Given the description of an element on the screen output the (x, y) to click on. 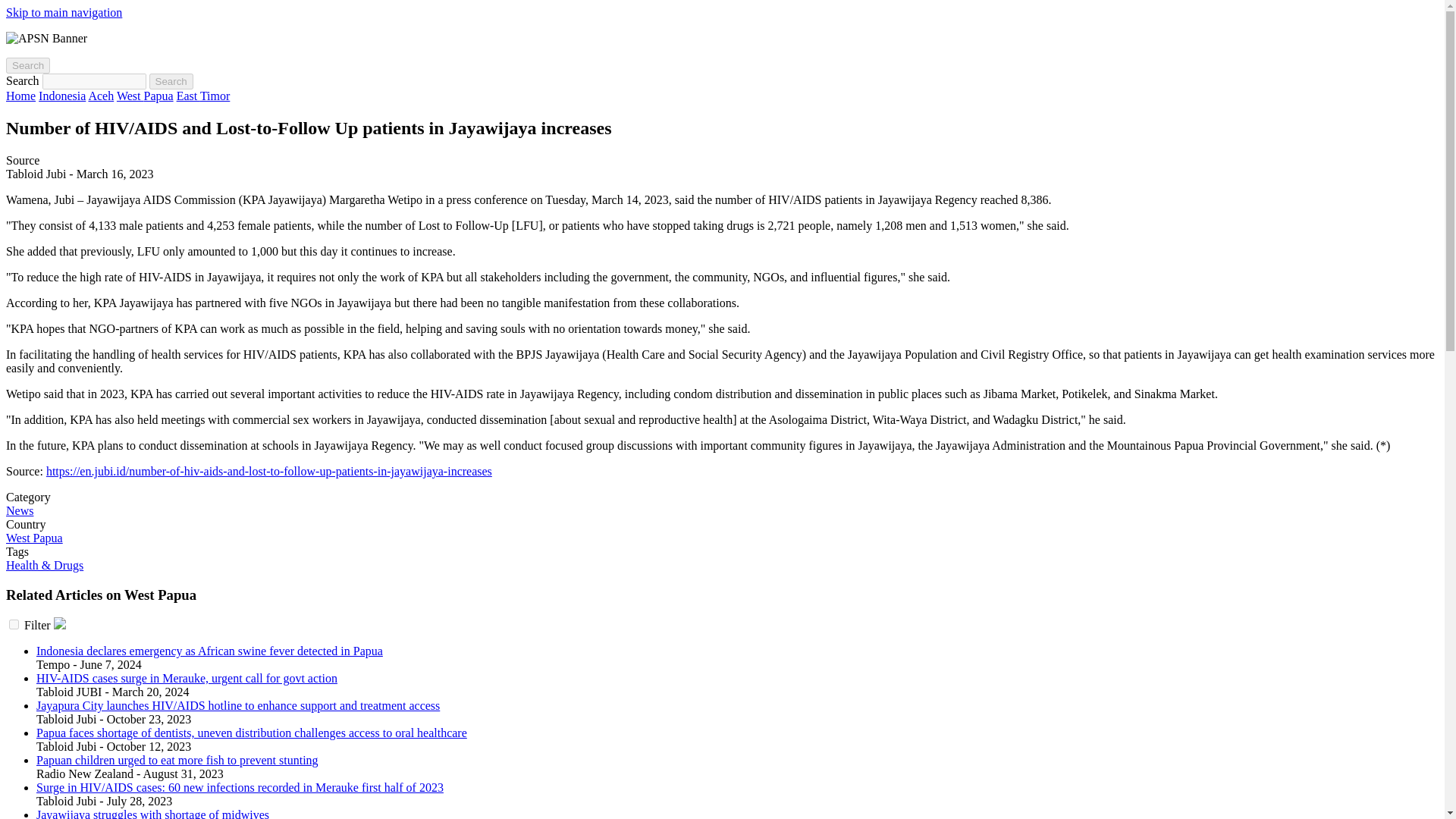
Search (27, 65)
West Papua (144, 95)
Search (171, 81)
Search (171, 81)
West Papua (33, 537)
Aceh (100, 95)
News (19, 510)
Enter the terms you wish to search for. (94, 81)
East Timor (203, 95)
HIV-AIDS cases surge in Merauke, urgent call for govt action (186, 677)
Indonesia (62, 95)
on (13, 624)
Papuan children urged to eat more fish to prevent stunting (177, 759)
